Given the description of an element on the screen output the (x, y) to click on. 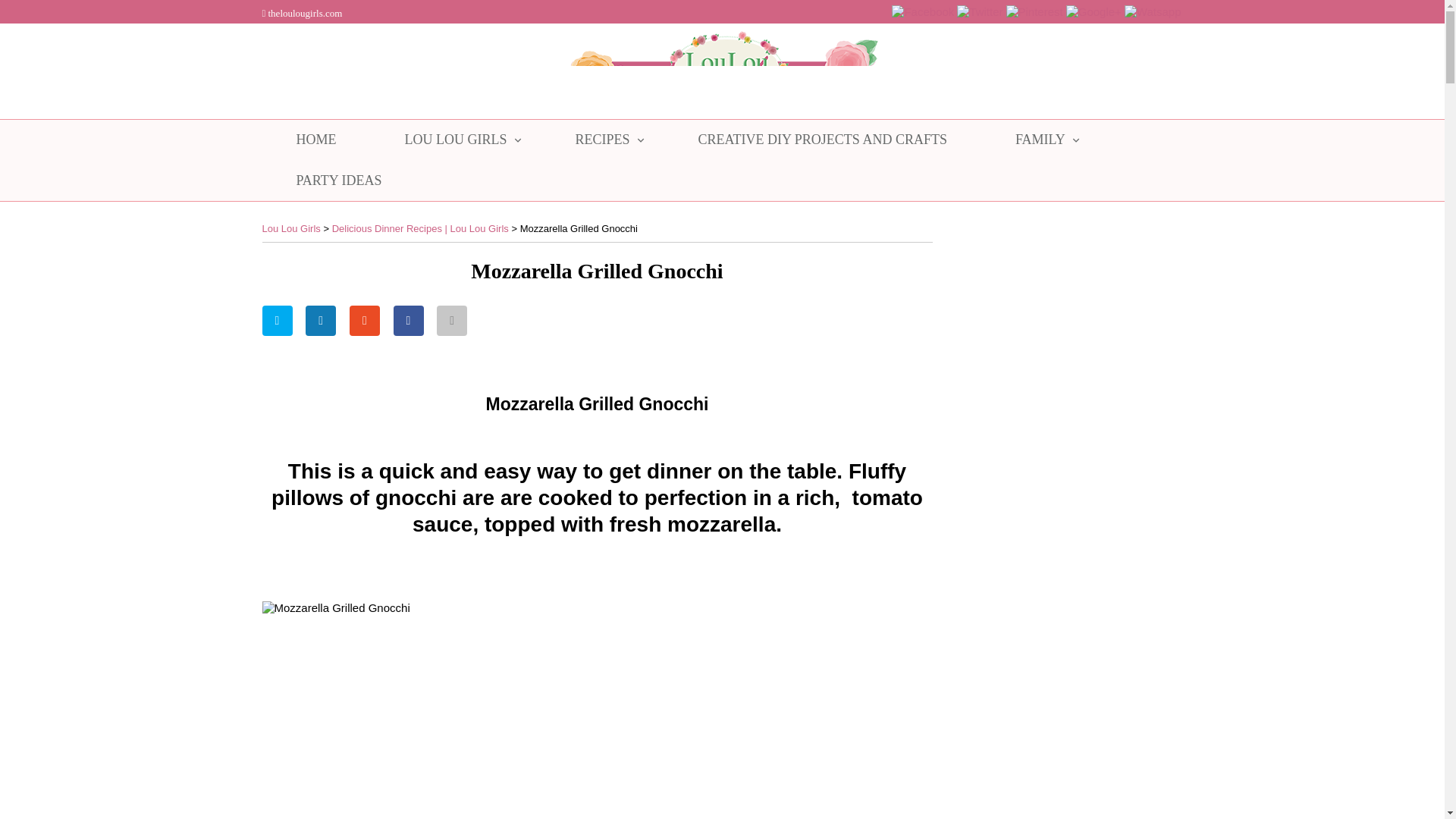
Twitter (979, 11)
Watsapp (1152, 10)
Go to Lou Lou Girls. (291, 228)
theloulougirls.com (302, 12)
Facebook (922, 11)
RECIPES (602, 139)
Facebook (922, 10)
Twitter (979, 10)
HOME (316, 139)
CREATIVE DIY PROJECTS AND CRAFTS (822, 139)
